Given the description of an element on the screen output the (x, y) to click on. 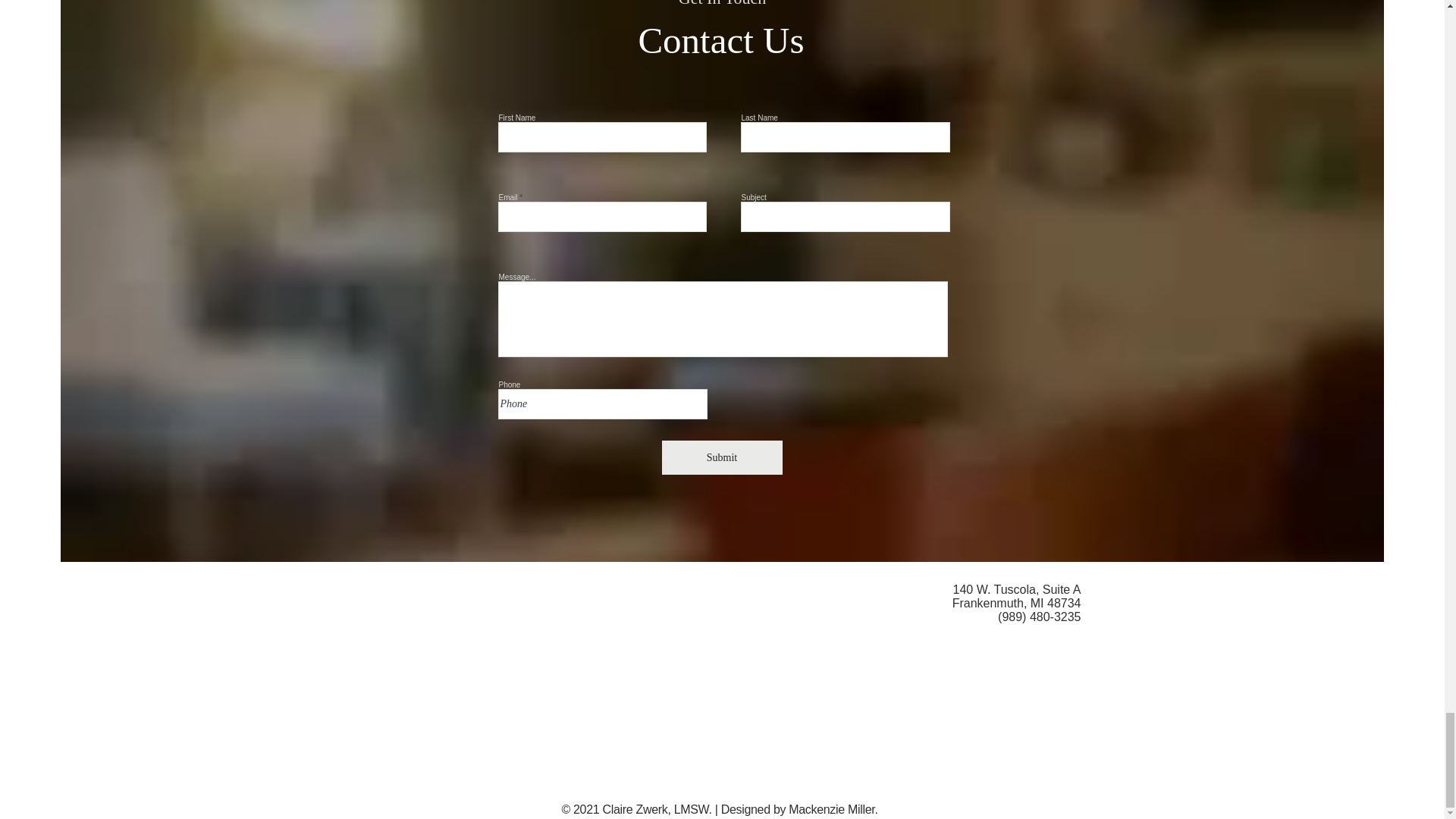
Submit (721, 457)
Contact Us (720, 40)
